Given the description of an element on the screen output the (x, y) to click on. 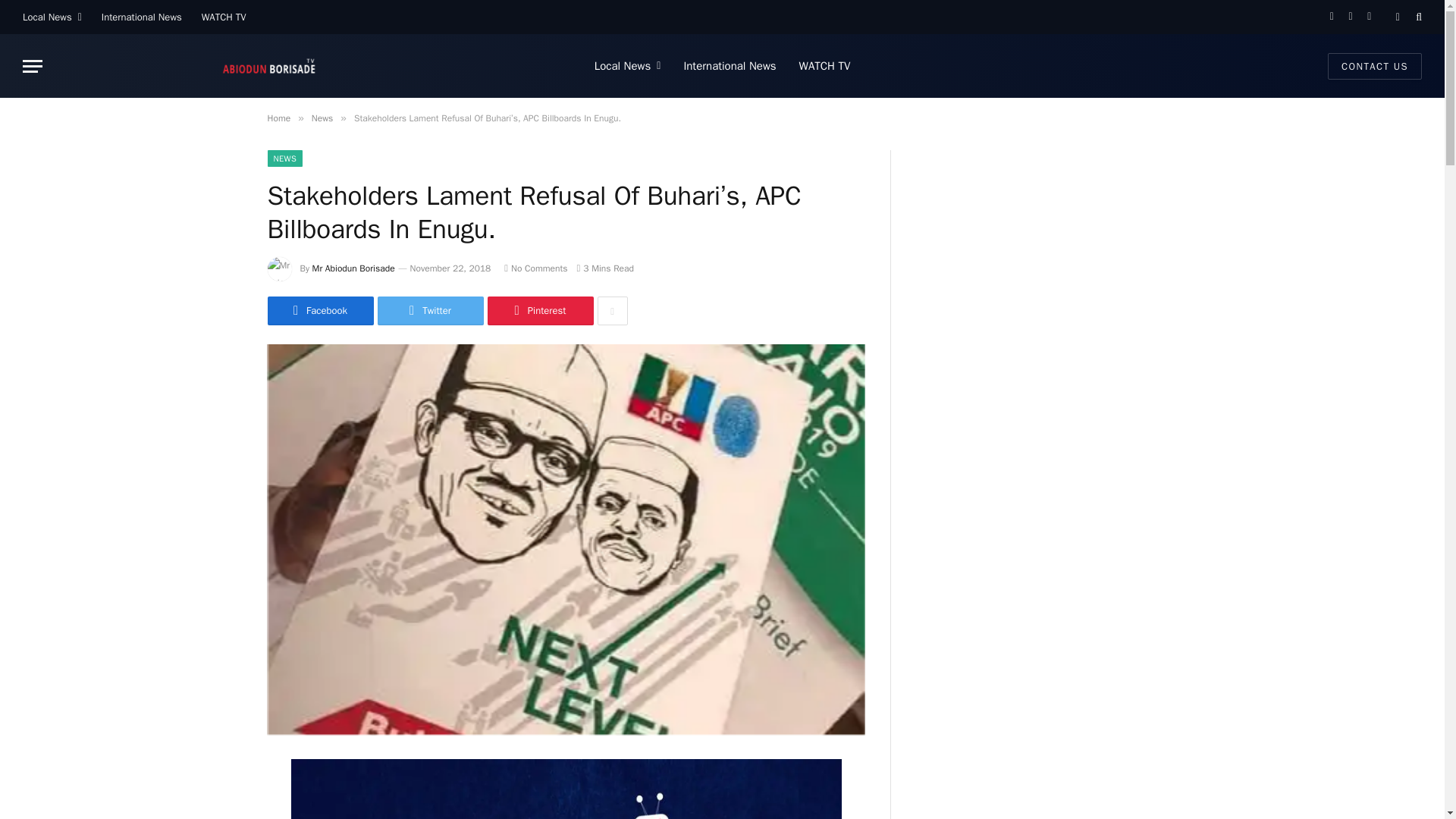
NEWS (284, 158)
Home (277, 118)
CONTACT US (1374, 66)
Switch to Dark Design - easier on eyes. (1397, 17)
Posts by Mr Abiodun Borisade (353, 268)
Share on Pinterest (539, 310)
Show More Social Sharing (611, 310)
Local News (627, 65)
Local News (52, 17)
International News (729, 65)
WATCH TV (224, 17)
Abiodun Borisade TV (268, 65)
Share on Facebook (319, 310)
News (322, 118)
WATCH TV (824, 65)
